Given the description of an element on the screen output the (x, y) to click on. 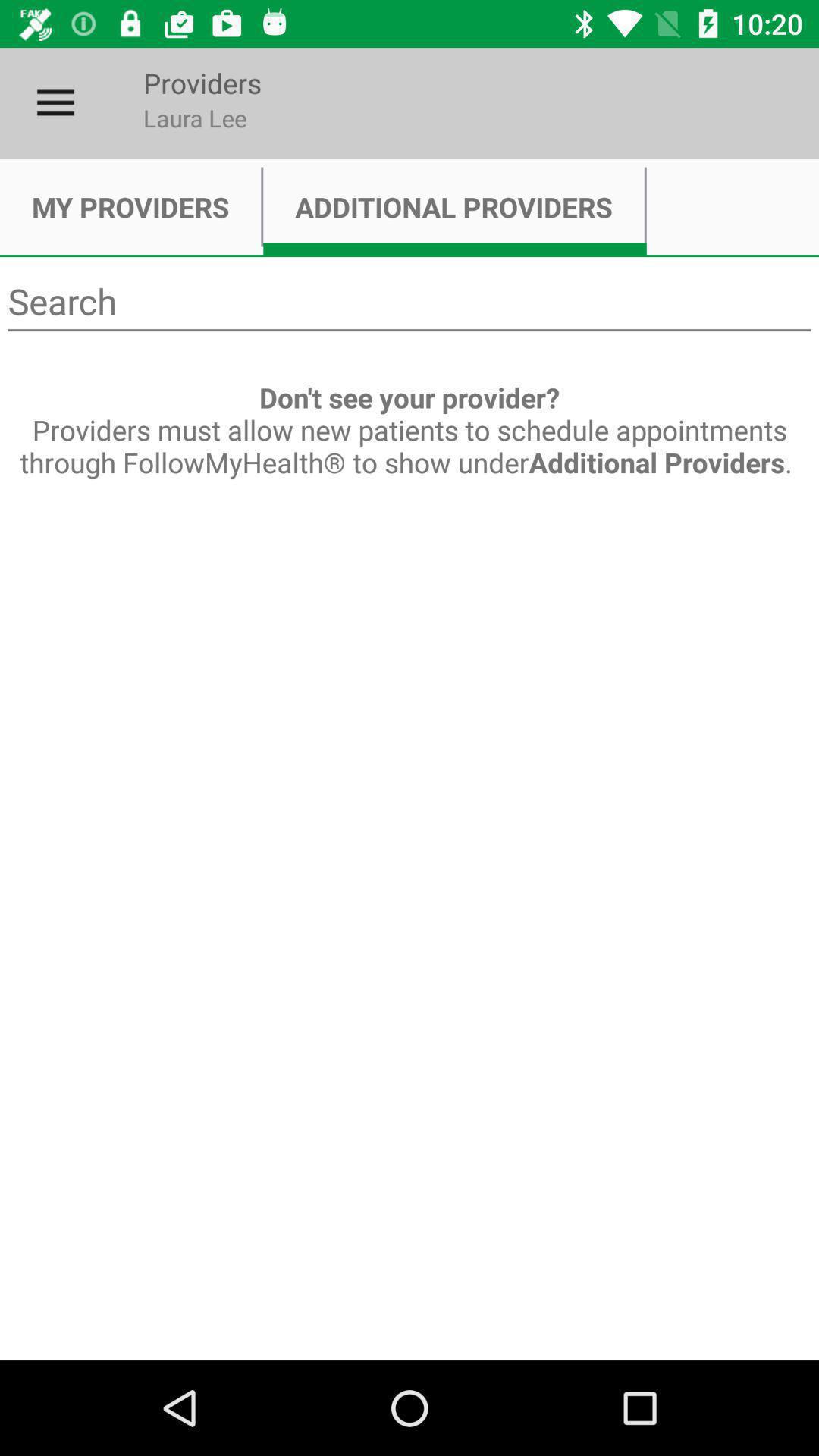
click the icon next to the providers icon (55, 103)
